Given the description of an element on the screen output the (x, y) to click on. 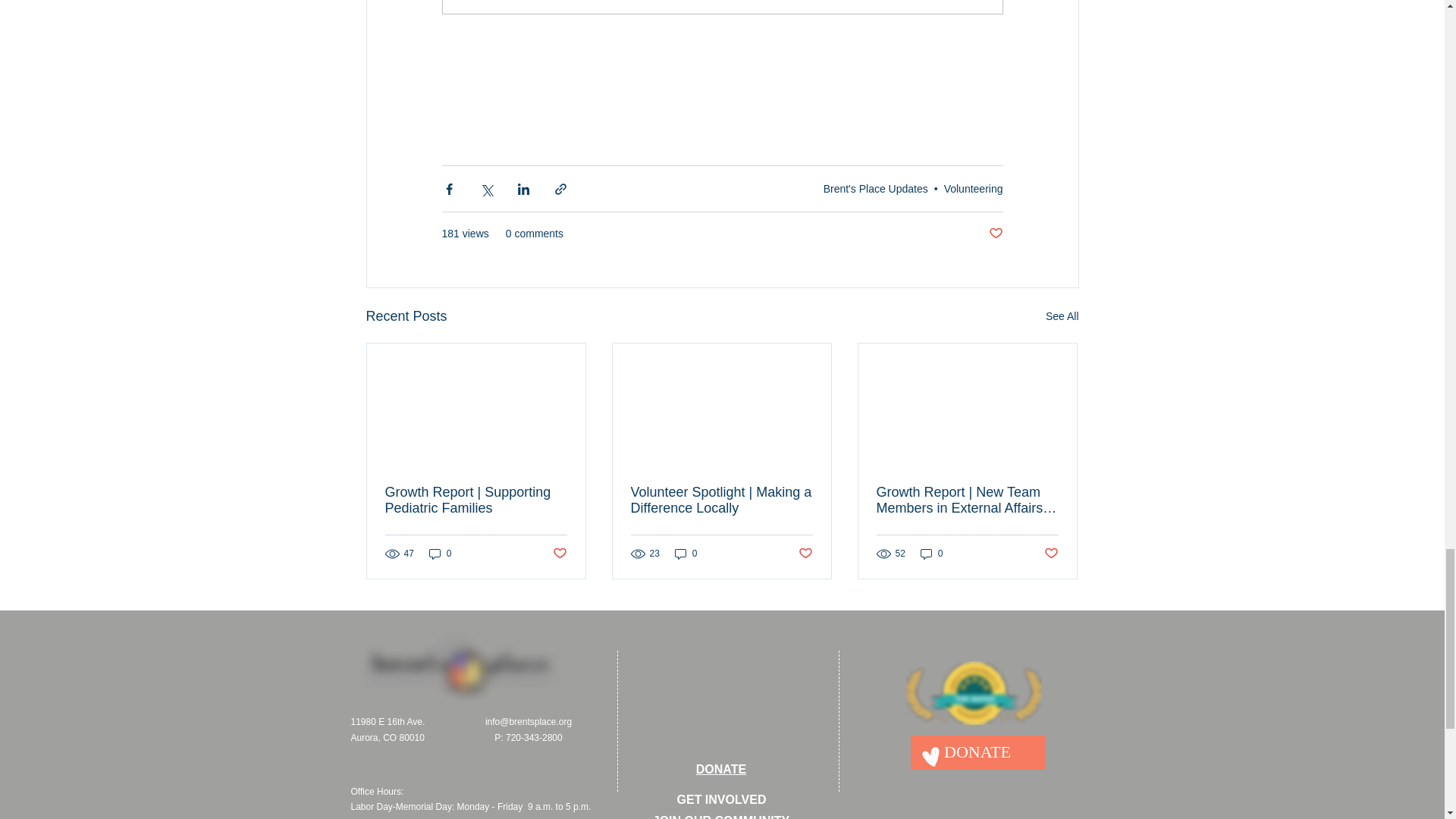
Volunteering (973, 188)
Brent's Place Updates (876, 188)
0 (440, 554)
Post not marked as liked (558, 553)
See All (1061, 316)
Post not marked as liked (995, 233)
